Given the description of an element on the screen output the (x, y) to click on. 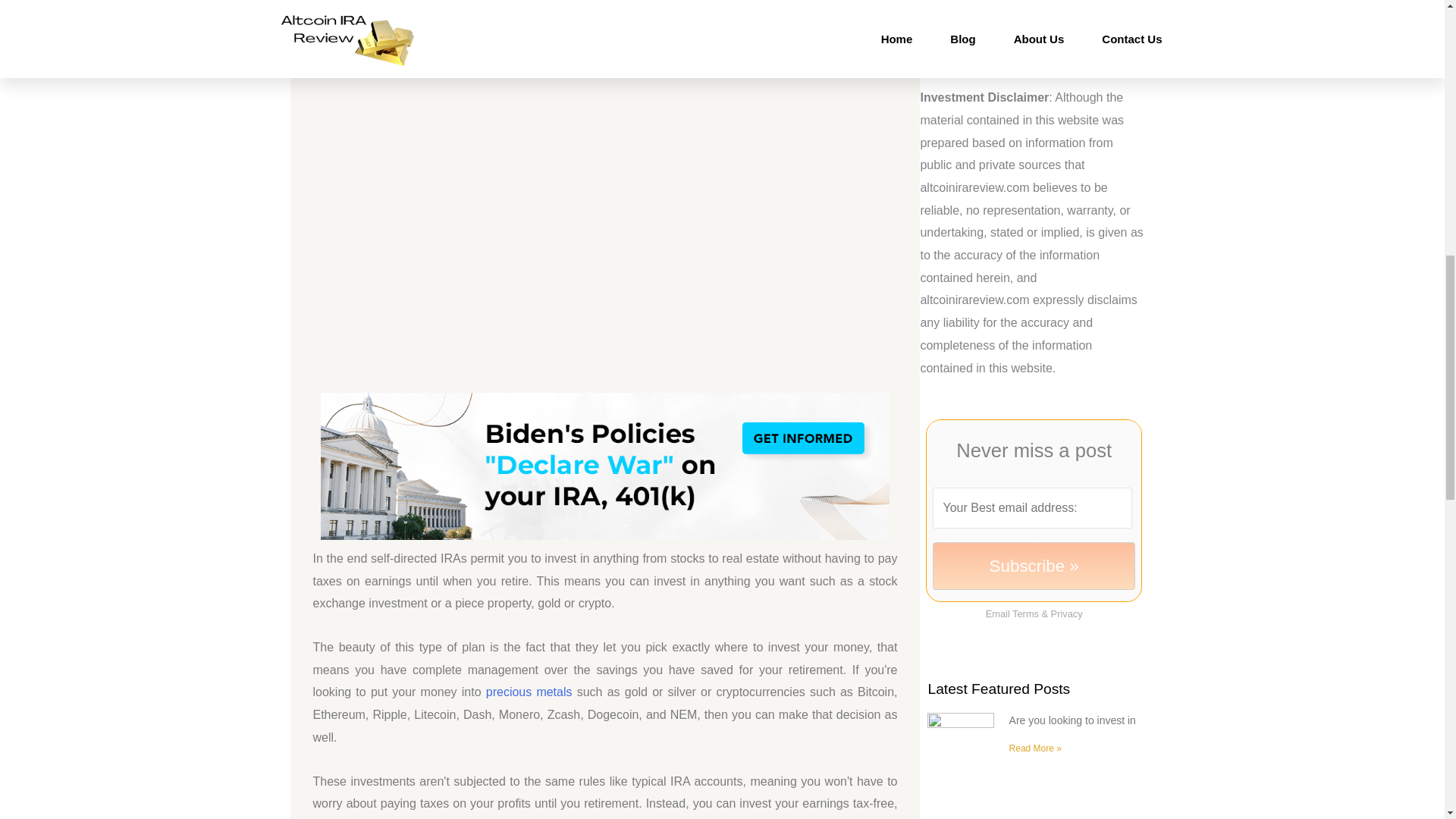
Email subscriptions privacy policy (1067, 613)
Your Best email address: (1032, 507)
Email subscriptions terms of service (1025, 613)
precious metals (529, 691)
